Given the description of an element on the screen output the (x, y) to click on. 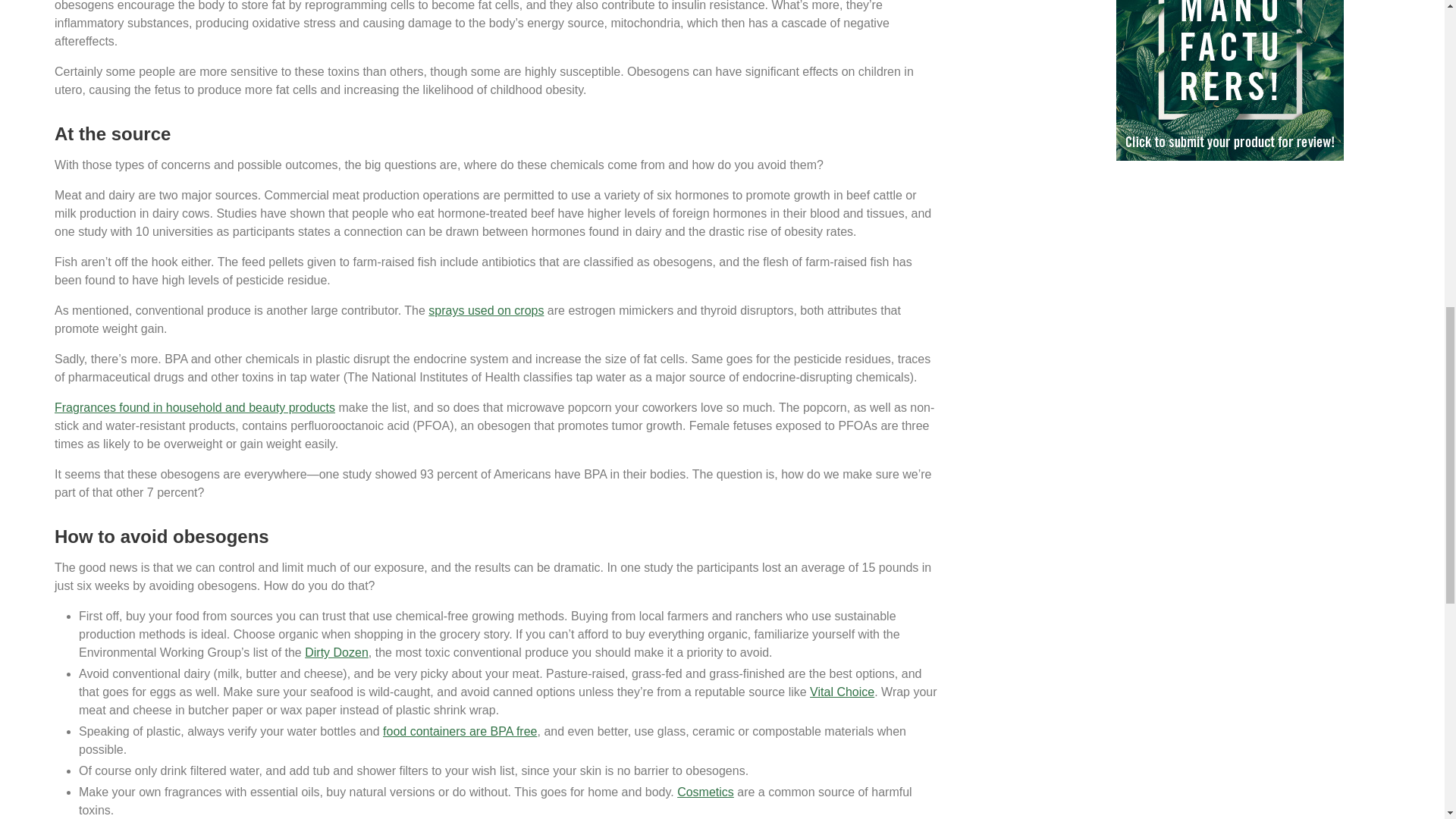
food containers are BPA free (459, 730)
Vital Choice (842, 691)
sprays used on crops (485, 309)
Fragrances found in household and beauty products (194, 407)
Dirty Dozen (336, 652)
Cosmetics (705, 791)
